Given the description of an element on the screen output the (x, y) to click on. 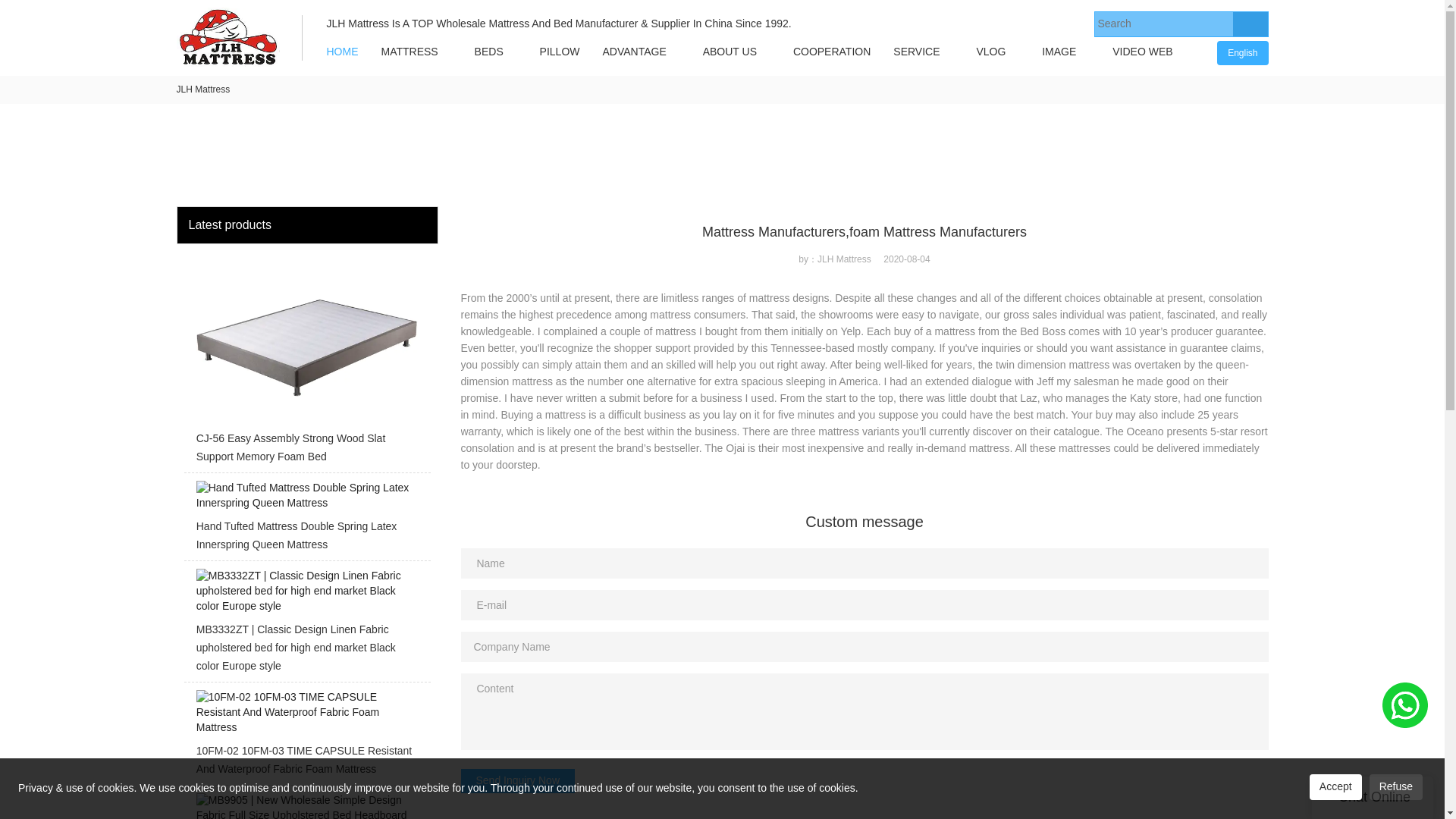
BEDS (489, 51)
ABOUT US (729, 51)
MATTRESS (409, 51)
PILLOW (559, 51)
VLOG (989, 51)
ADVANTAGE (634, 51)
HOME (342, 51)
SERVICE (916, 51)
IMAGE (1058, 51)
COOPERATION (831, 51)
